Given the description of an element on the screen output the (x, y) to click on. 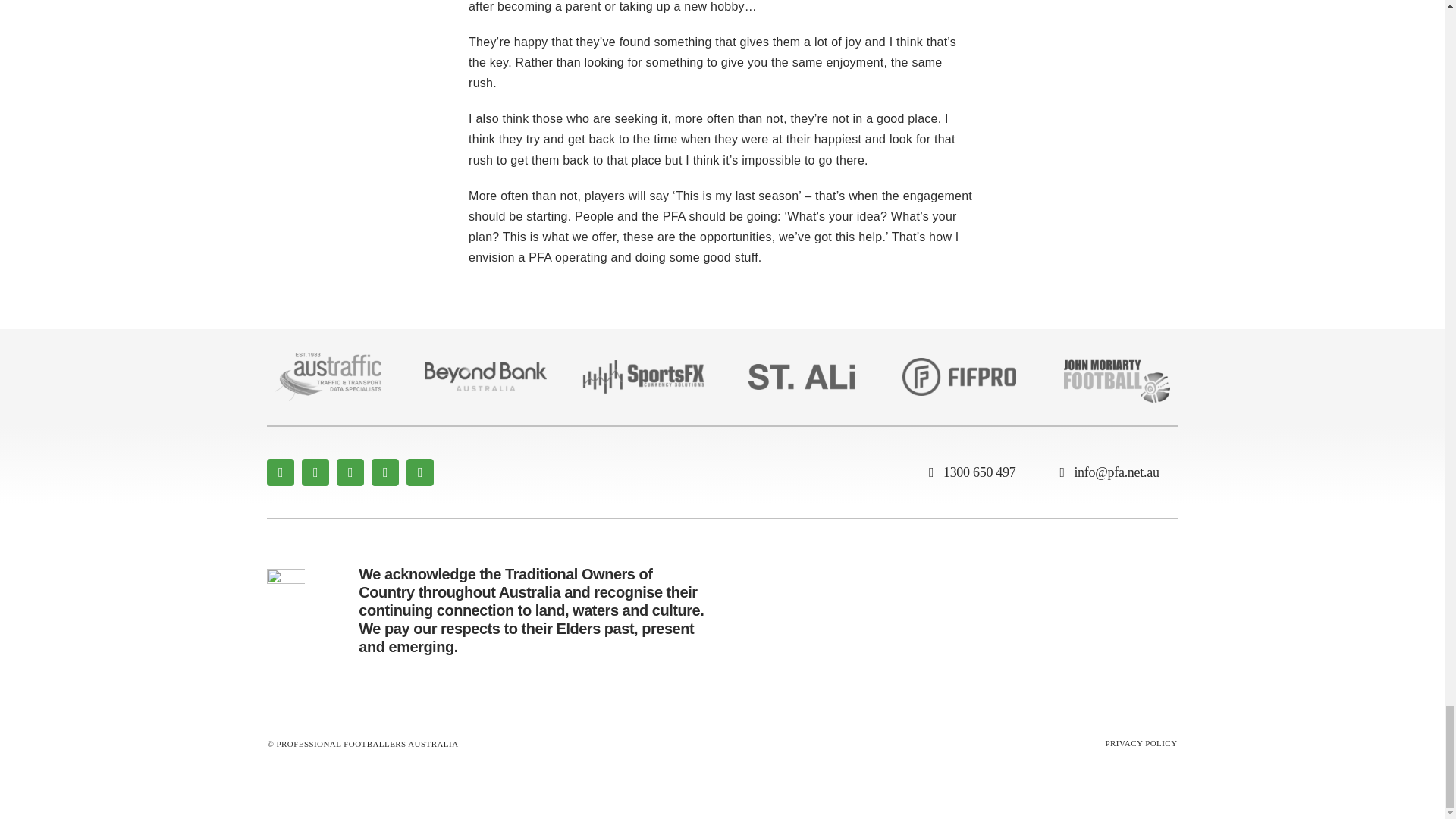
Facebook (280, 472)
X (315, 472)
LinkedIn (419, 472)
Instagram (350, 472)
YouTube (384, 472)
